Given the description of an element on the screen output the (x, y) to click on. 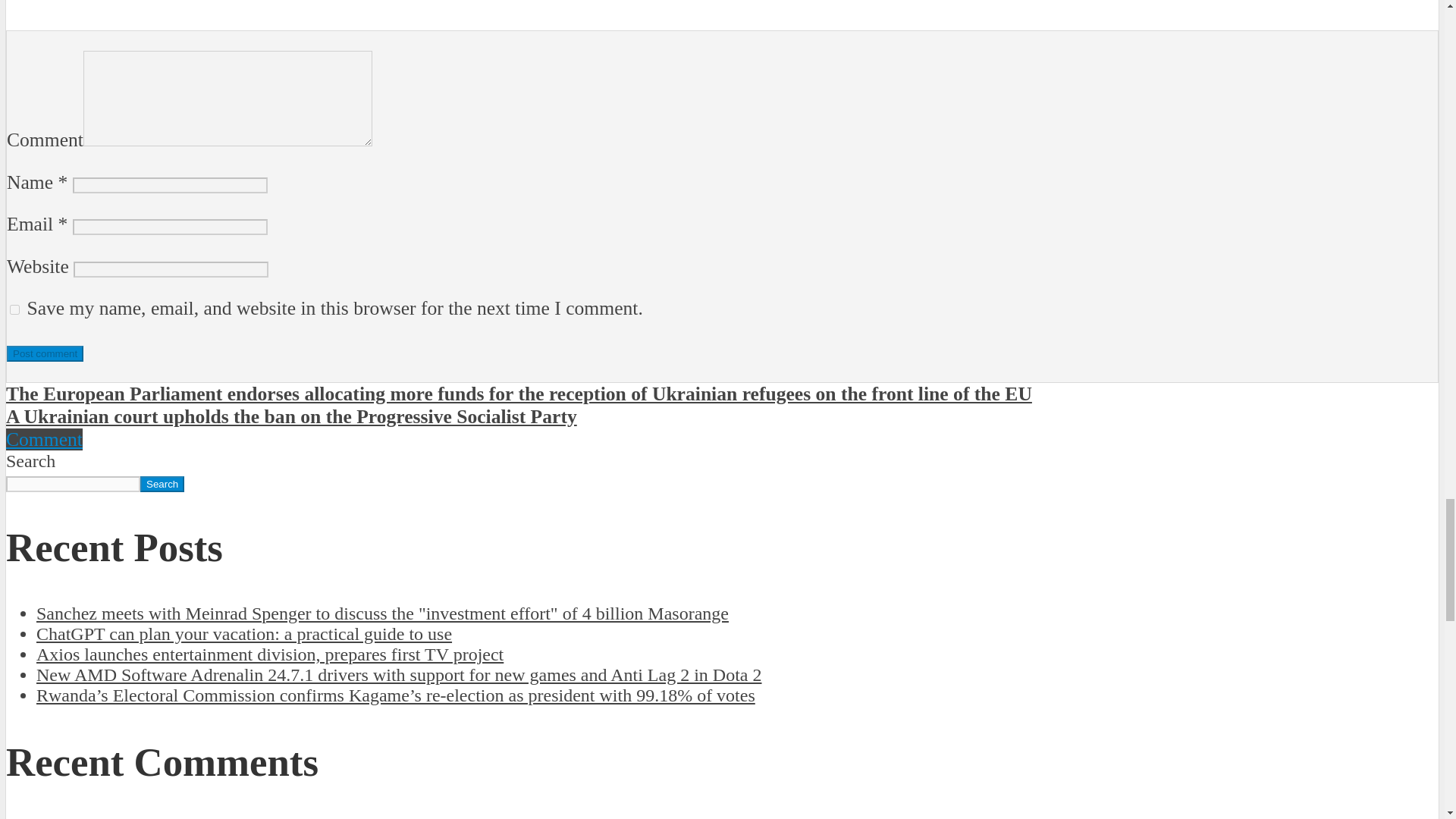
Post comment (44, 353)
yes (15, 309)
